Given the description of an element on the screen output the (x, y) to click on. 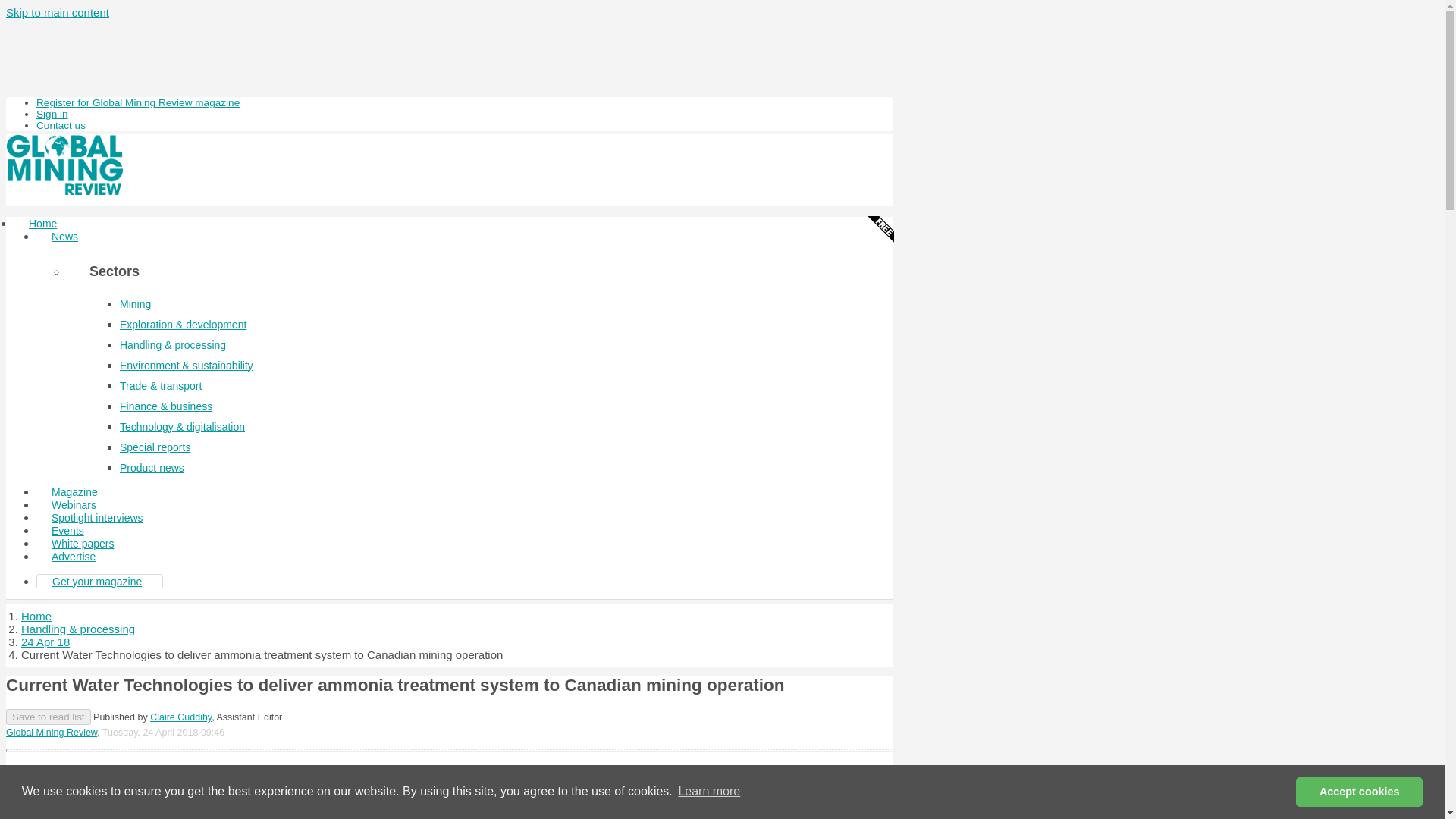
Sign in (52, 113)
Webinars (74, 504)
Sign in (52, 113)
Register for Global Mining Review magazine (138, 102)
Get your magazine (97, 581)
Product news (151, 467)
News (64, 236)
Accept cookies (1358, 791)
Special reports (154, 447)
Magazine (74, 492)
Contact us (60, 125)
Events (67, 530)
Advertise (73, 556)
Save to read list (47, 716)
Skip to main content (57, 11)
